Given the description of an element on the screen output the (x, y) to click on. 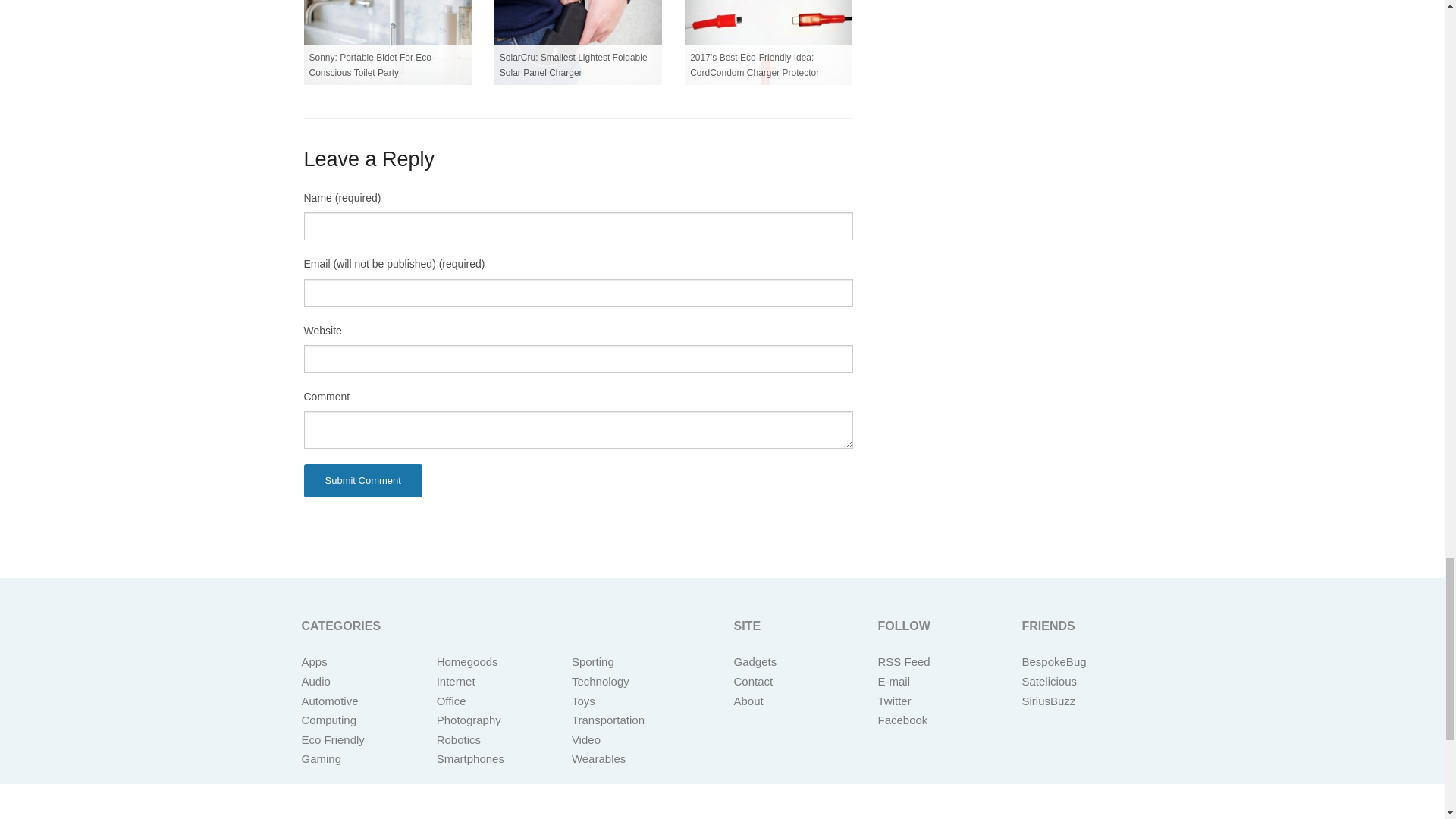
Sonny: Portable Bidet For Eco-Conscious Toilet Party (386, 42)
SolarCru: Smallest Lightest Foldable Solar Panel Charger (578, 42)
Submit Comment (362, 480)
